Given the description of an element on the screen output the (x, y) to click on. 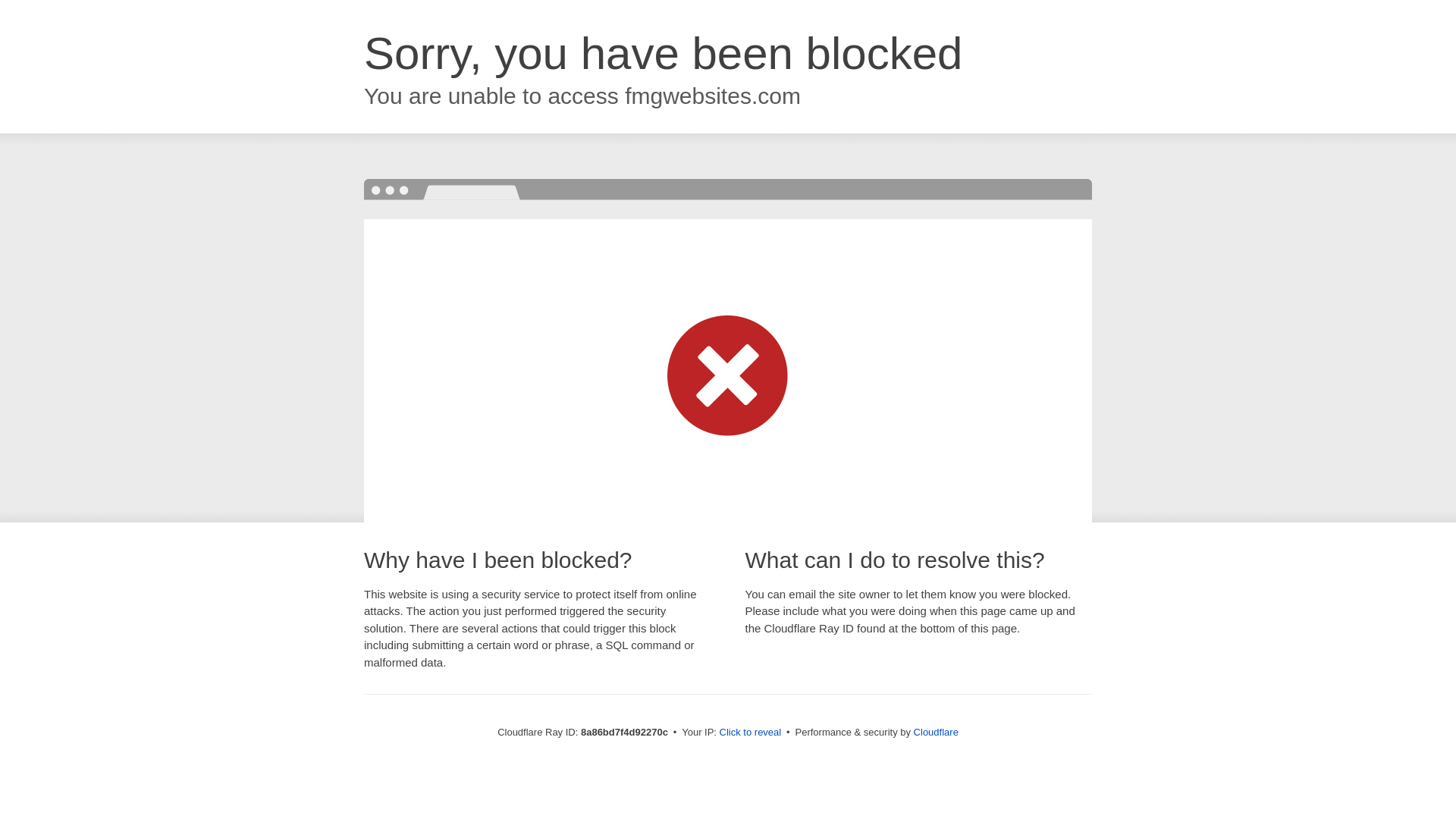
Click to reveal (750, 732)
Cloudflare (936, 731)
